Given the description of an element on the screen output the (x, y) to click on. 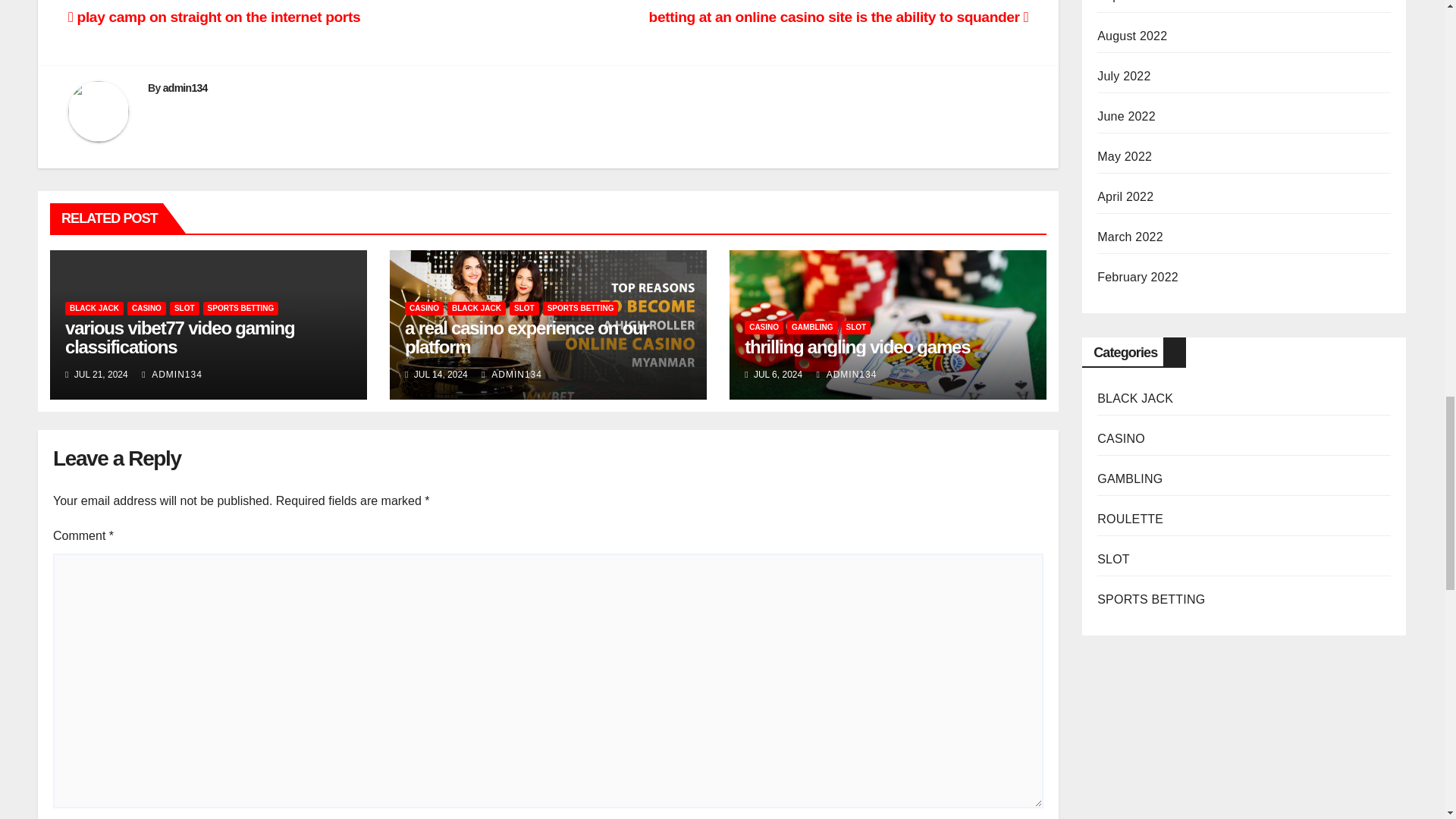
SLOT (184, 308)
SPORTS BETTING (241, 308)
various vibet77 video gaming classifications (180, 337)
Permalink to: various vibet77 video gaming classifications (180, 337)
betting at an online casino site is the ability to squander (839, 17)
Permalink to: a real casino experience on our platform (526, 337)
play camp on straight on the internet ports (213, 17)
Permalink to: thrilling angling video games (856, 346)
admin134 (185, 87)
CASINO (146, 308)
